Given the description of an element on the screen output the (x, y) to click on. 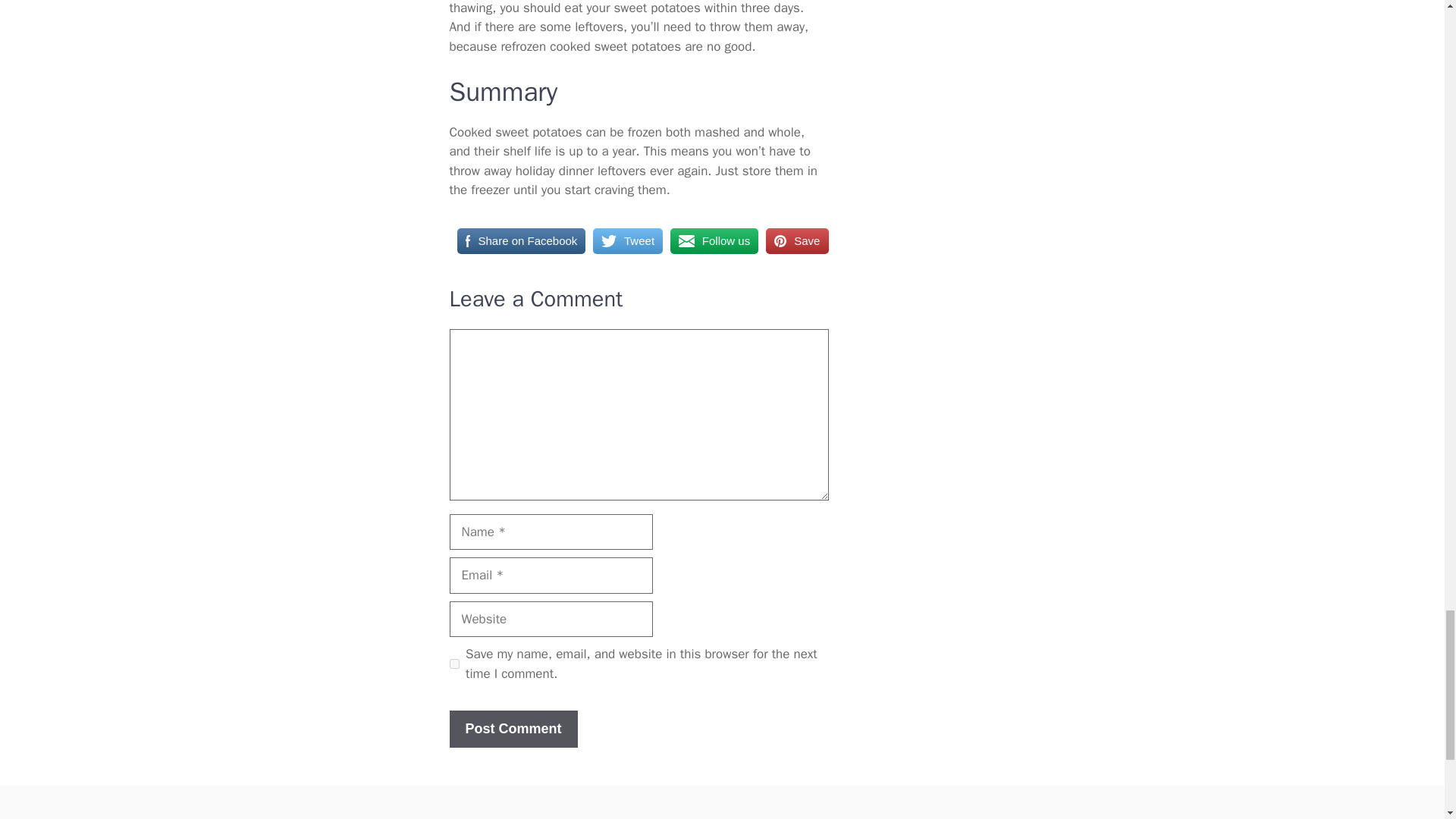
Follow us (713, 240)
Post Comment (512, 728)
Share on Facebook (521, 240)
Tweet (627, 240)
yes (453, 664)
Post Comment (512, 728)
Save (796, 240)
